Given the description of an element on the screen output the (x, y) to click on. 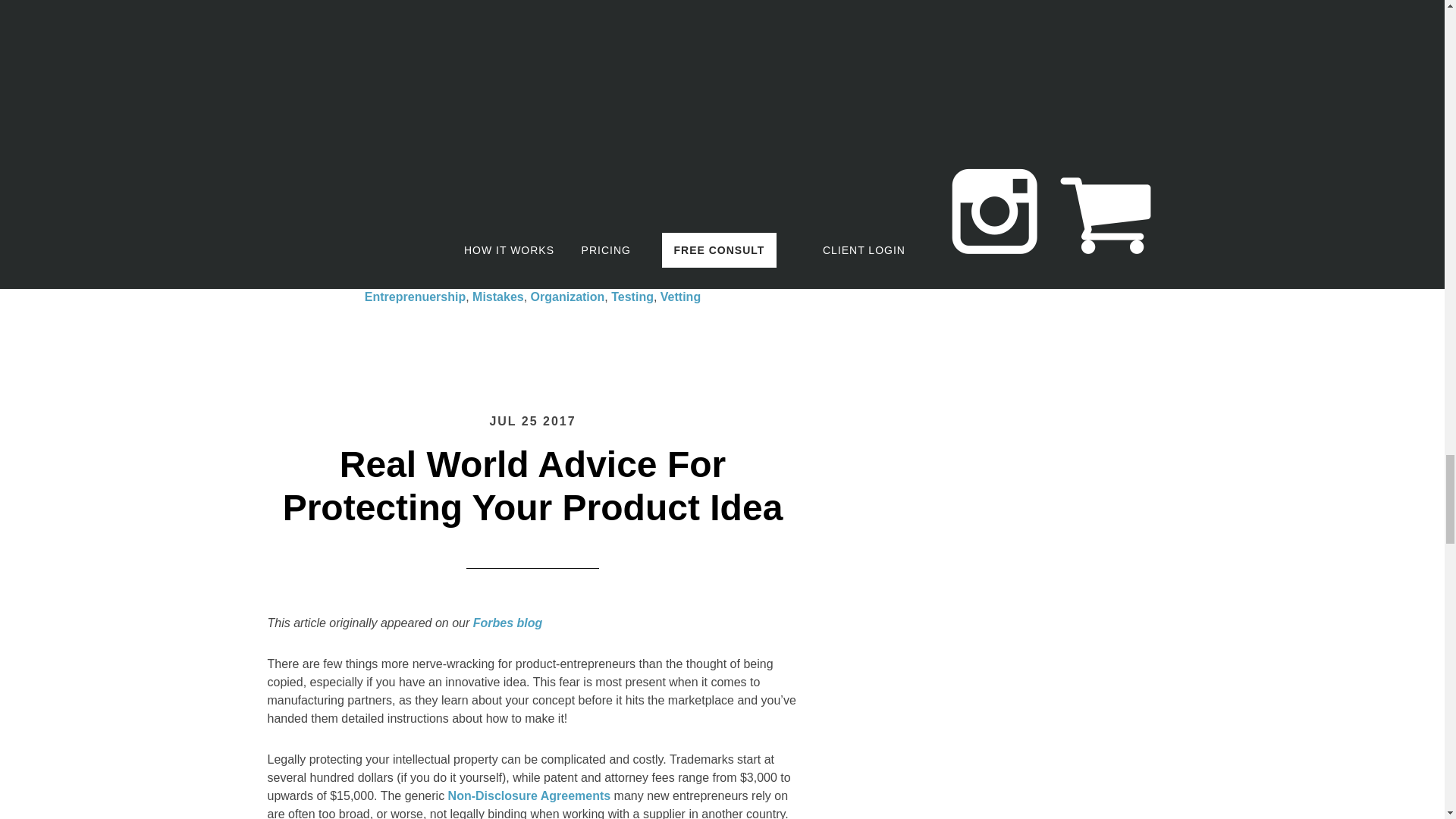
Mistakes (497, 296)
Product Design (592, 278)
Entreprenuership (415, 296)
Quality Control (687, 278)
Real World Advice For Protecting Your Product Idea (532, 486)
Forbes blog (508, 622)
Vetting (680, 296)
Manufacturing (498, 278)
admin (356, 278)
Organization (568, 296)
